Given the description of an element on the screen output the (x, y) to click on. 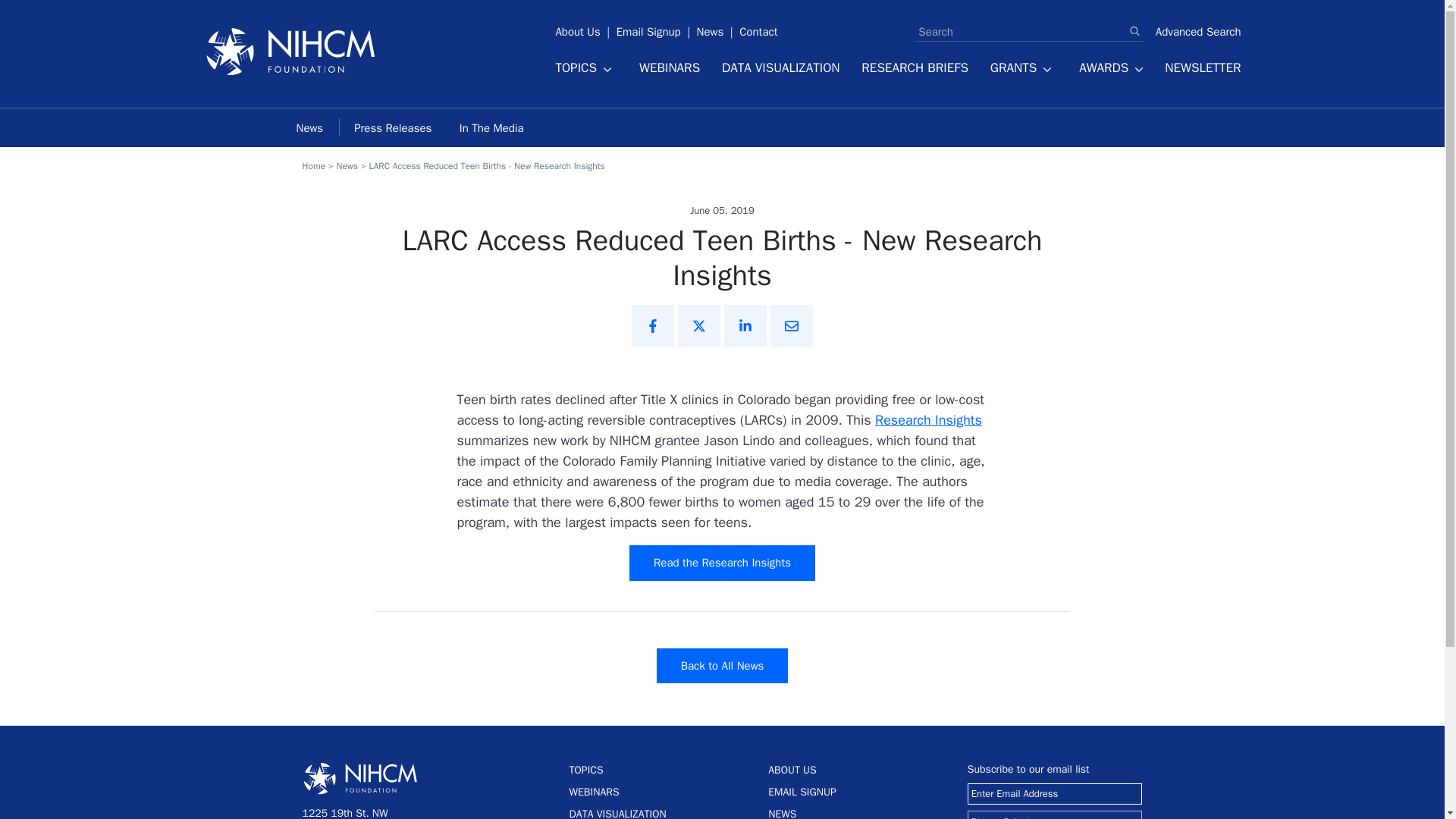
News (710, 25)
Advanced Search (1198, 31)
GRANTS (1020, 70)
RESEARCH BRIEFS (914, 69)
Contact (758, 25)
WEBINARS (669, 69)
About Us (578, 25)
Email Signup (648, 25)
DATA VISUALIZATION (781, 69)
